Given the description of an element on the screen output the (x, y) to click on. 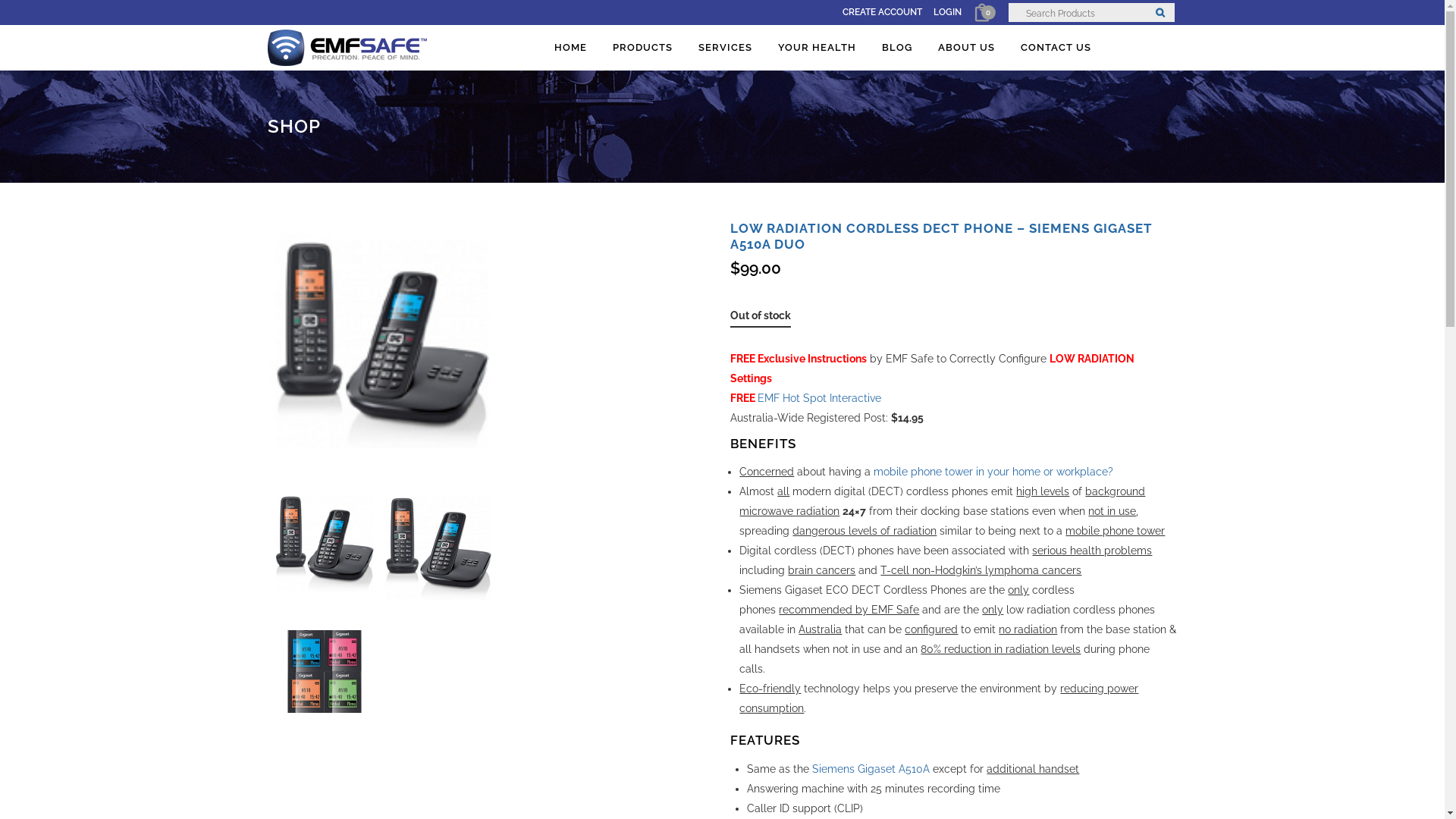
EMF Hot Spot Interactive Element type: text (819, 398)
PRODUCTS Element type: text (641, 47)
0 Element type: text (980, 14)
mobile phone tower in your home or workplace? Element type: text (993, 471)
BLOG Element type: text (897, 47)
YOUR HEALTH Element type: text (816, 47)
images Element type: hover (489, 334)
CREATE ACCOUNT Element type: text (876, 12)
LOGIN Element type: text (941, 12)
SERVICES Element type: text (725, 47)
images Element type: hover (323, 674)
HOME Element type: text (570, 47)
images Element type: hover (323, 541)
images Element type: hover (437, 545)
Siemens Gigaset A510A Element type: text (870, 768)
CONTACT US Element type: text (1055, 47)
ABOUT US Element type: text (966, 47)
